Given the description of an element on the screen output the (x, y) to click on. 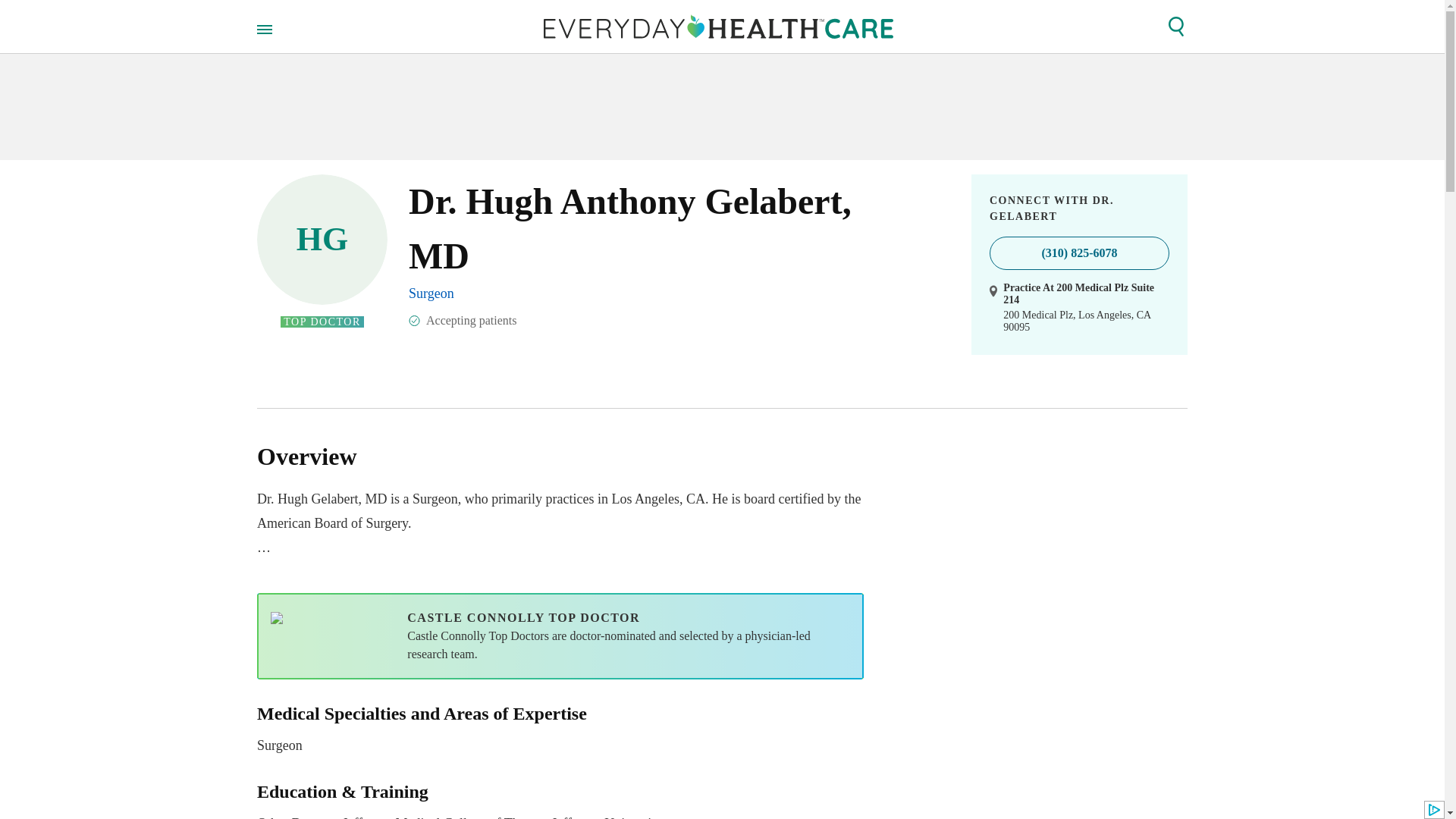
Surgeon (560, 730)
